Given the description of an element on the screen output the (x, y) to click on. 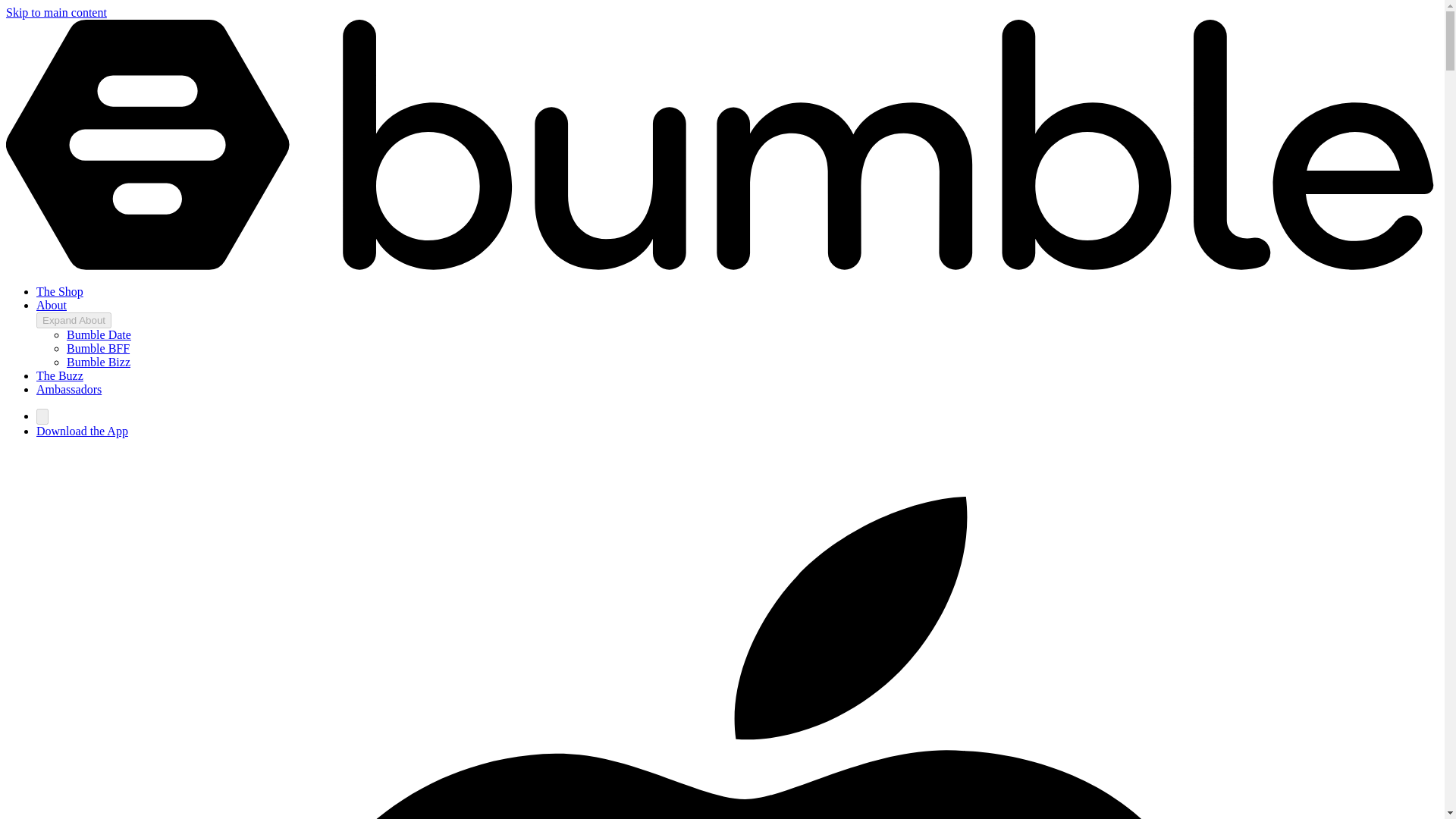
Skip to main content (55, 11)
Bumble Bizz (98, 361)
Bumble Date (98, 334)
About (51, 305)
Expand About (74, 320)
The Buzz (59, 375)
Bumble BFF (97, 348)
The Shop (59, 291)
Ambassadors (68, 389)
Download the App (82, 431)
